Given the description of an element on the screen output the (x, y) to click on. 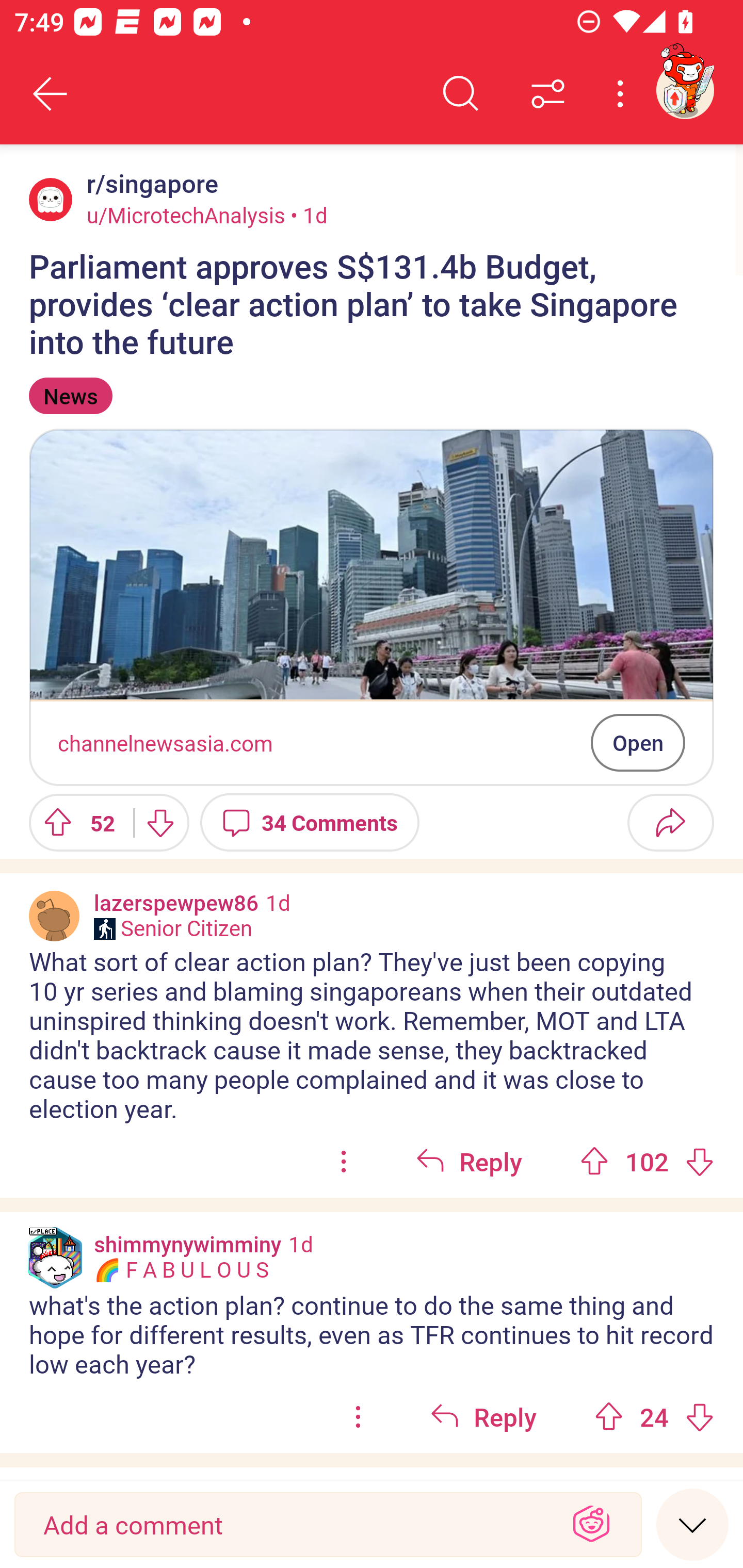
Back (50, 93)
TestAppium002 account (685, 90)
Search comments (460, 93)
Sort comments (547, 93)
More options (623, 93)
r/singapore (148, 183)
Avatar (50, 199)
News (70, 395)
Preview Image channelnewsasia.com Open (371, 606)
Open (637, 742)
Upvote 52 (73, 822)
Downvote (158, 822)
34 Comments (309, 822)
Share (670, 822)
Avatar (53, 915)
￼ Senior Citizen (172, 927)
options (343, 1161)
Reply (469, 1161)
Upvote 102 102 votes Downvote (647, 1161)
🌈 F A B U L O U S (180, 1269)
options (358, 1417)
Reply (483, 1417)
Upvote 24 24 votes Downvote (654, 1417)
Speed read (692, 1524)
Add a comment (291, 1524)
Show Expressions (590, 1524)
